Given the description of an element on the screen output the (x, y) to click on. 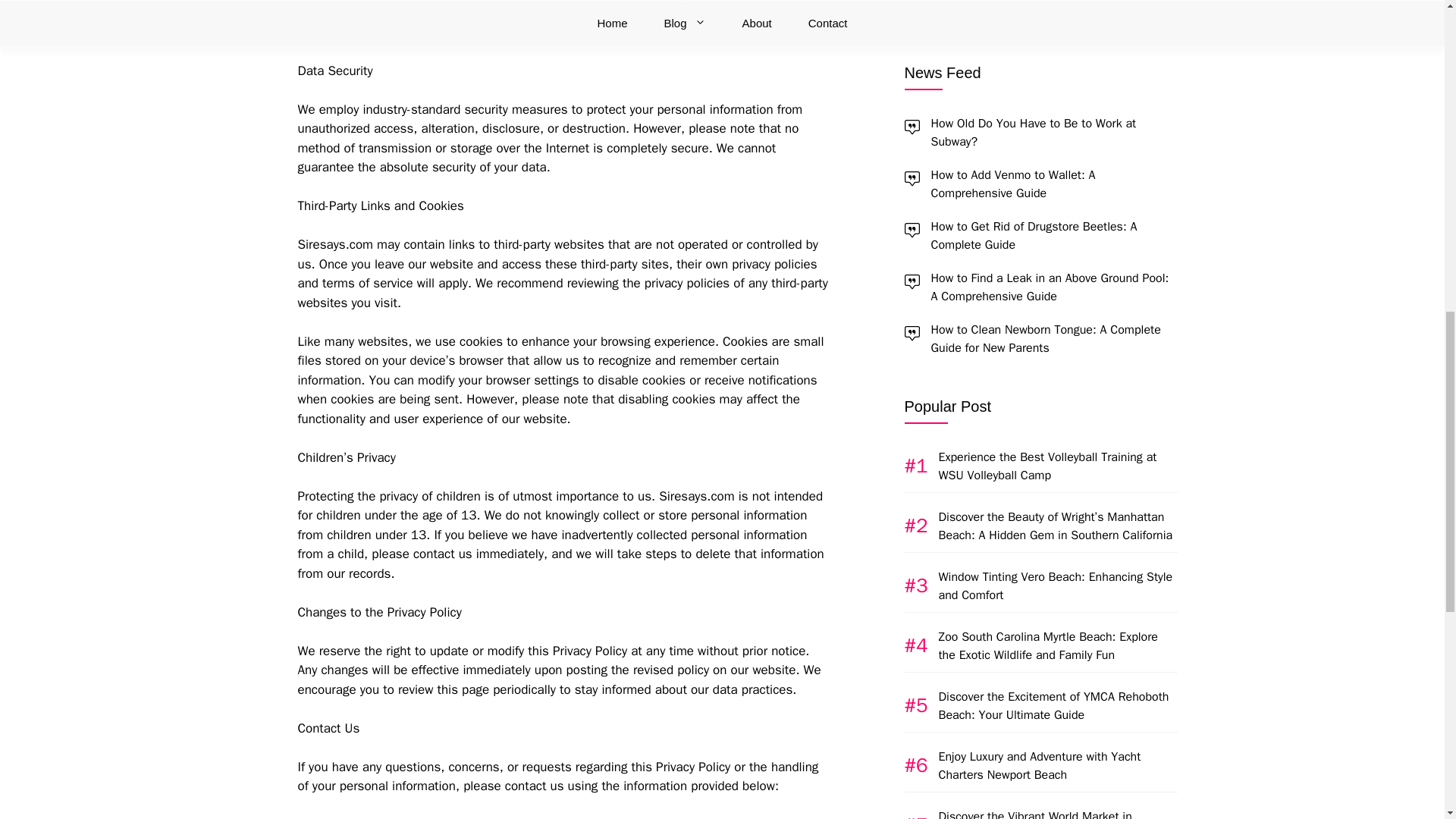
Enjoy Luxury and Adventure with Yacht Charters Newport Beach (1040, 25)
Discover the Vibrant World Market in Panama City Beach (1035, 86)
